Given the description of an element on the screen output the (x, y) to click on. 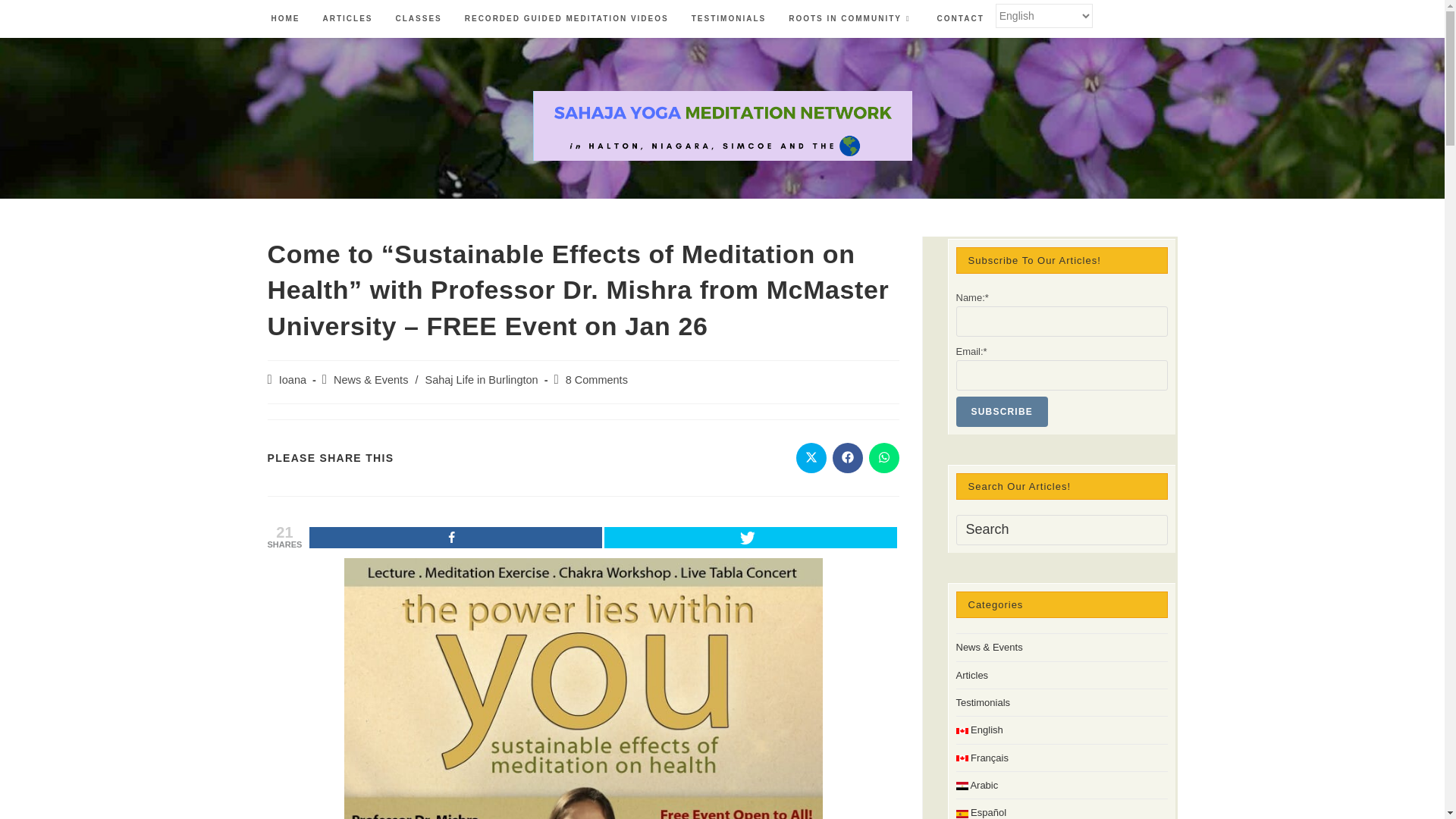
Sahaj Life in Burlington (481, 379)
Share (455, 537)
Tweet (750, 537)
Opens in a new window (811, 458)
ARTICLES (347, 19)
SY and Medicine in Burlington -2010 (582, 688)
Posts by Ioana (292, 379)
8 Comments (596, 379)
HOME (285, 19)
ROOTS IN COMMUNITY (850, 19)
CONTACT (960, 19)
CLASSES (418, 19)
Ioana (292, 379)
Opens in a new window (884, 458)
TESTIMONIALS (728, 19)
